Given the description of an element on the screen output the (x, y) to click on. 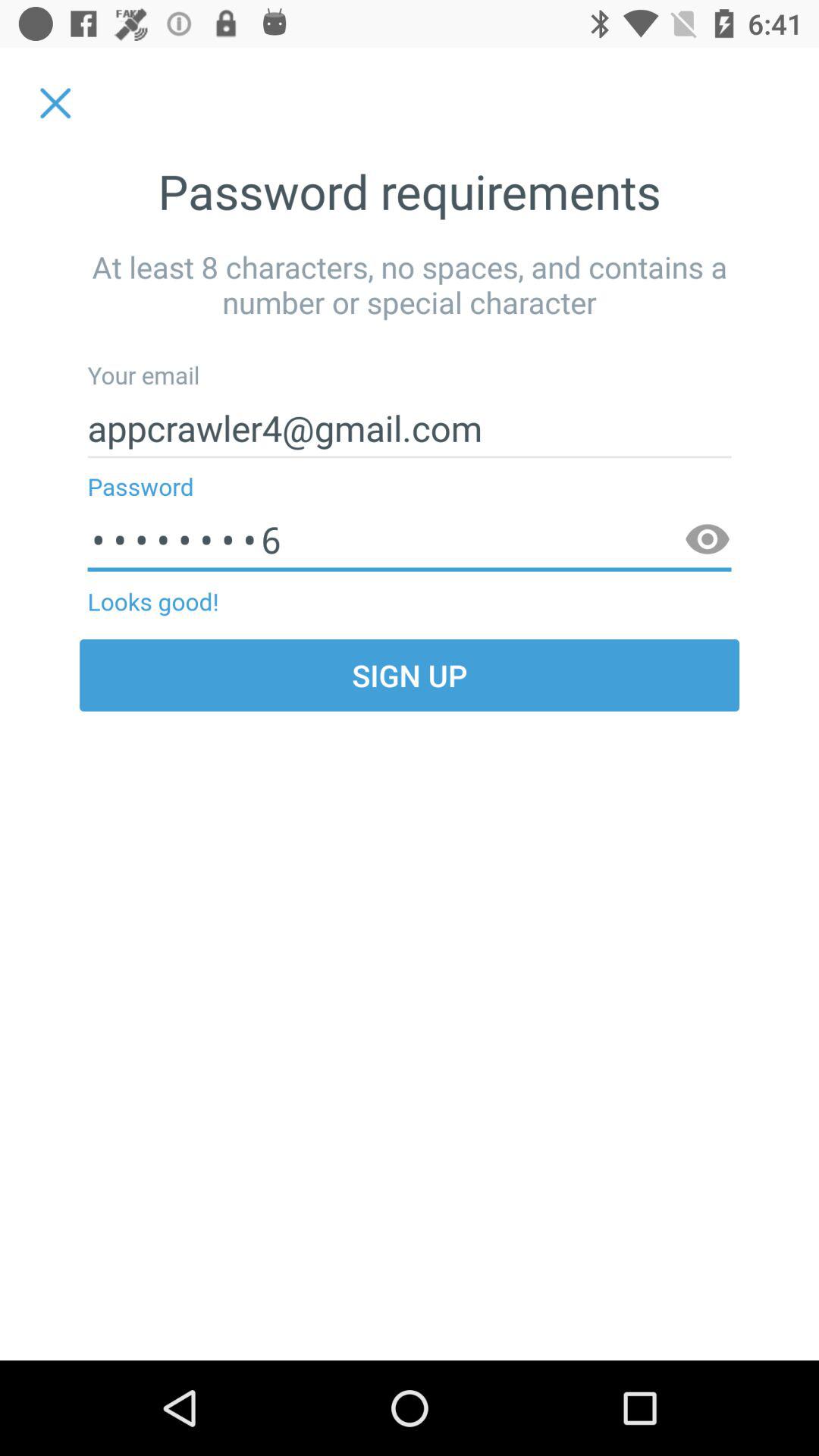
press app next to looks good! (707, 539)
